Given the description of an element on the screen output the (x, y) to click on. 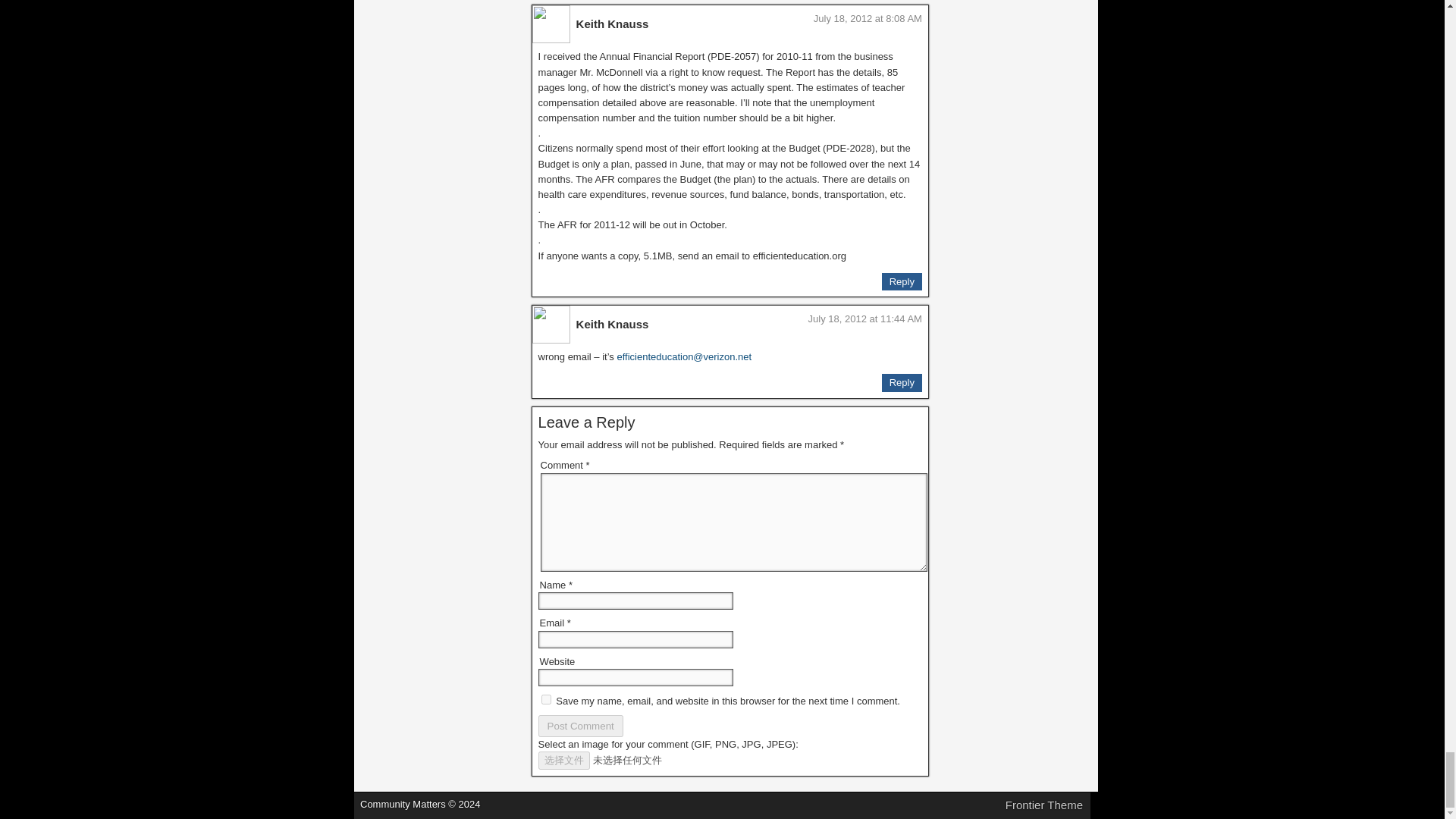
yes (546, 699)
Post Comment (580, 725)
